Given the description of an element on the screen output the (x, y) to click on. 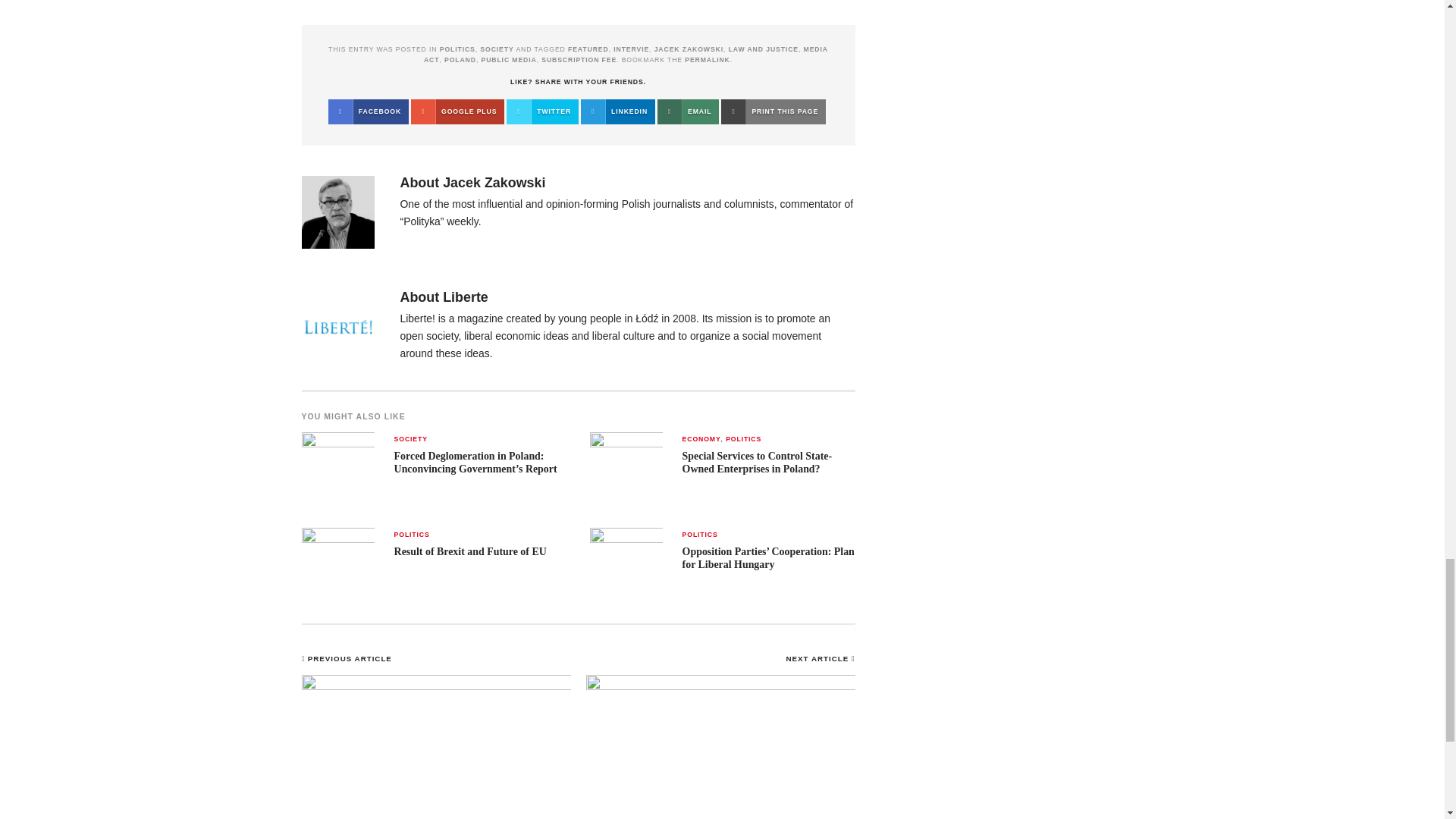
Posts by Jacek Zakowski (493, 182)
Posts by Liberte (464, 296)
